Given the description of an element on the screen output the (x, y) to click on. 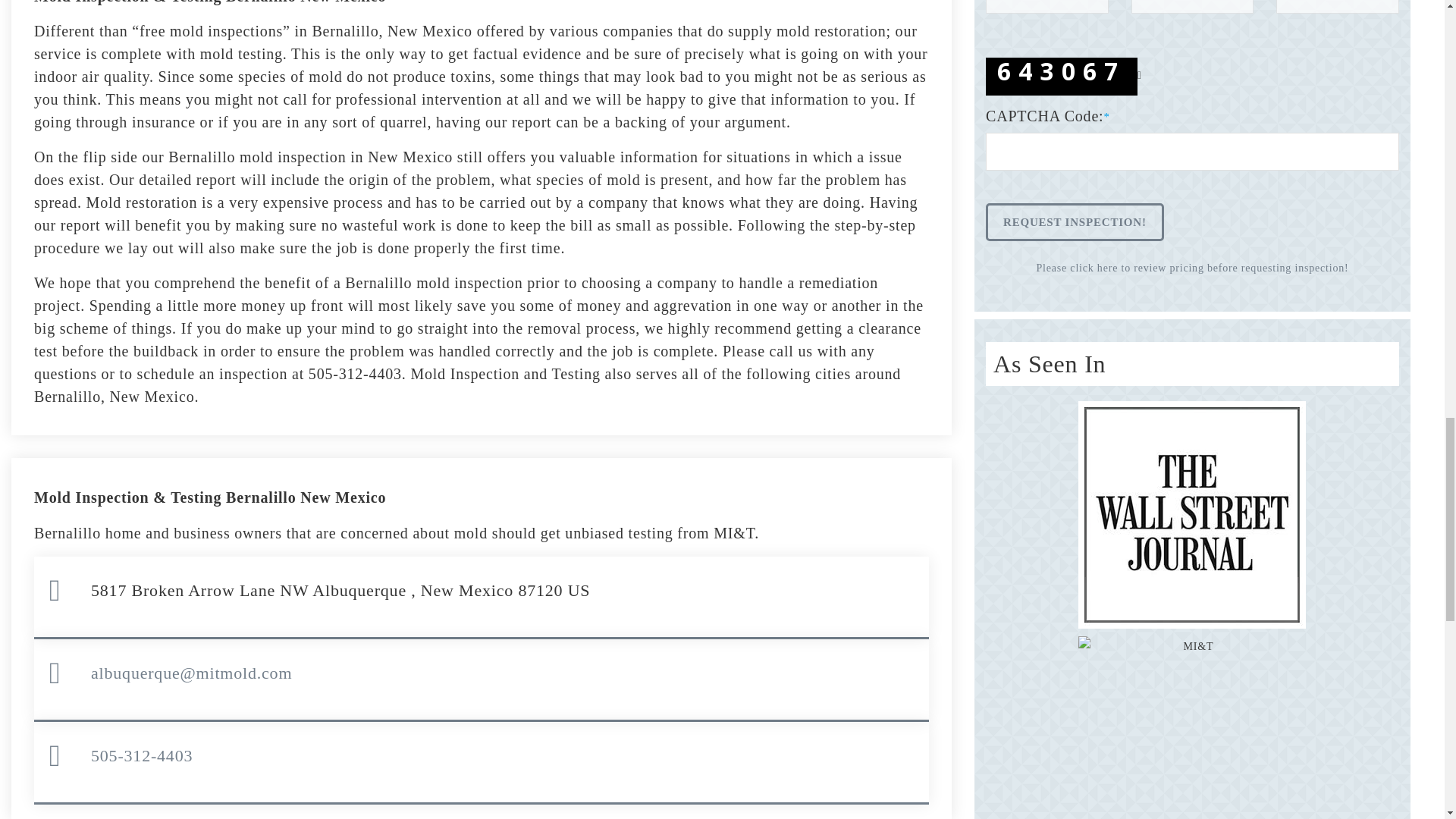
505-312-4403 (141, 755)
REQUEST INSPECTION! (1074, 221)
